Given the description of an element on the screen output the (x, y) to click on. 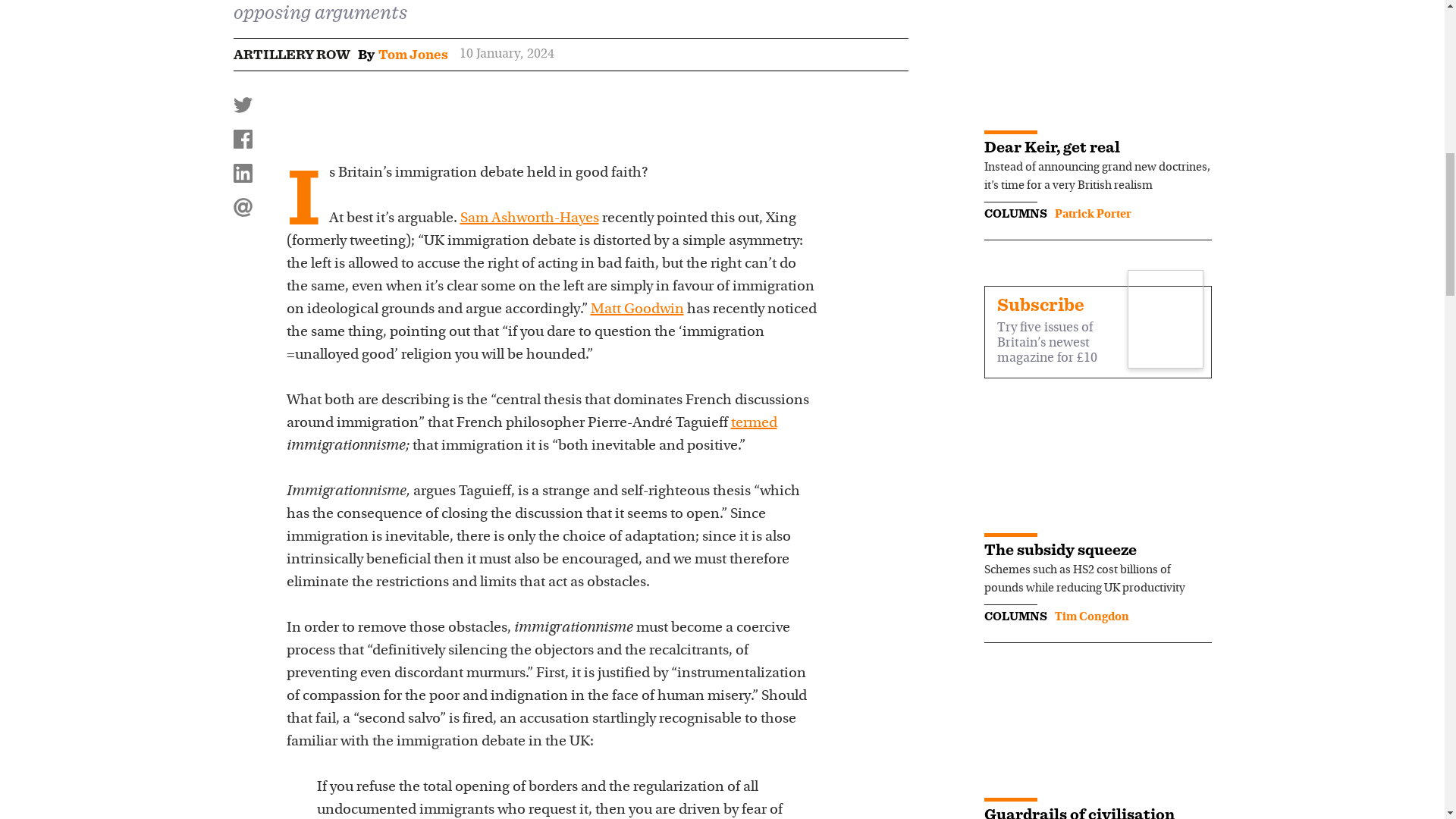
Posts by Tom Jones (411, 54)
ARTILLERY ROW (291, 54)
Tom Jones (411, 54)
Matt Goodwin (635, 309)
termed (753, 422)
Posts by Patrick Porter (1092, 214)
Sam Ashworth-Hayes (529, 218)
Posts by Tim Congdon (1091, 616)
